Given the description of an element on the screen output the (x, y) to click on. 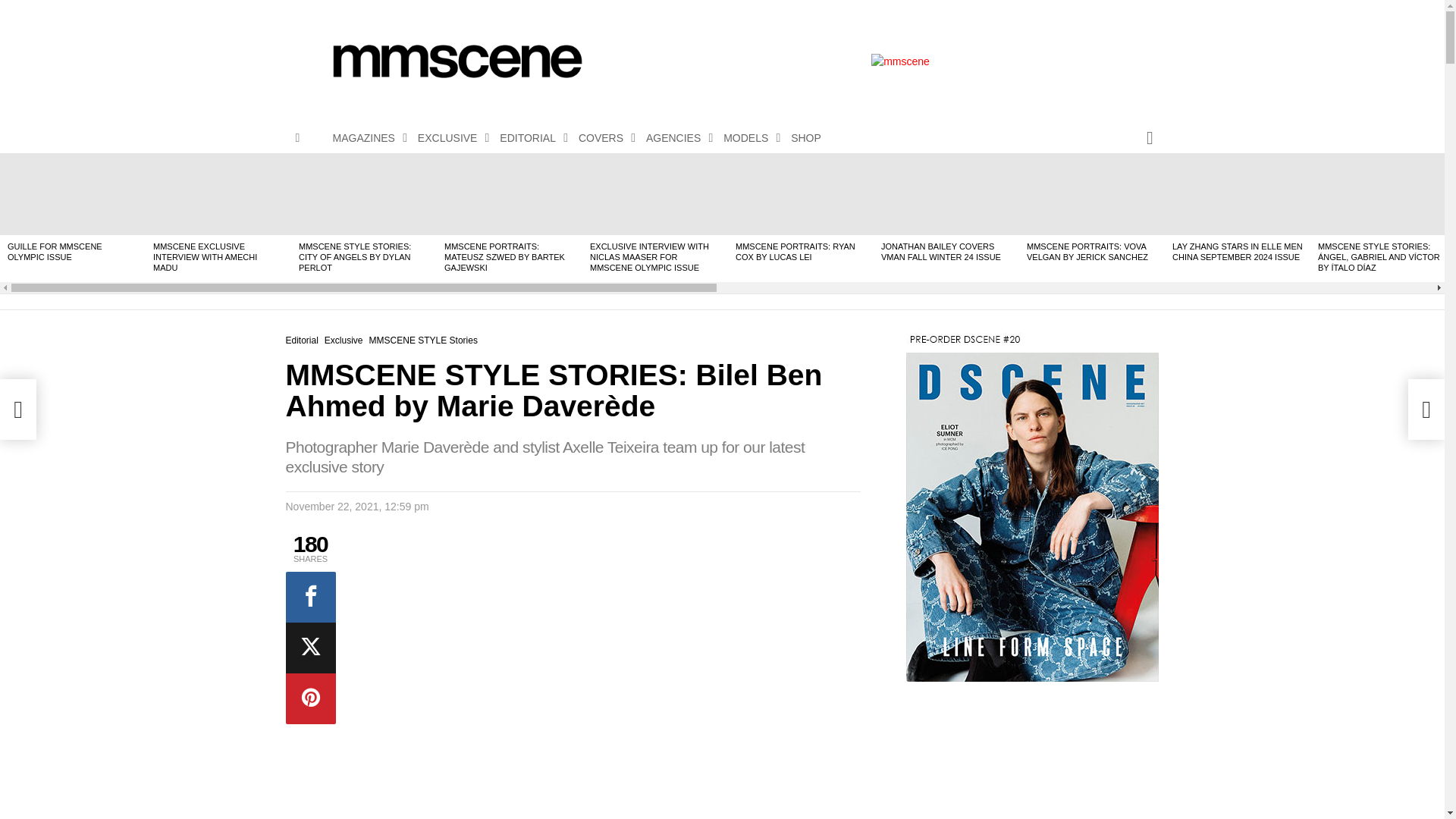
EDITORIAL (529, 137)
MAGAZINES (365, 137)
MMSCENE STYLE STORIES: City of Angels by Dylan Perlot (363, 194)
COVERS (602, 137)
SHOP (805, 137)
EXCLUSIVE (449, 137)
Guille for MMSCENE Olympic Issue (72, 194)
AGENCIES (676, 137)
MMSCENE Exclusive Interview with Amechi Madu (218, 194)
Menu (296, 137)
